Given the description of an element on the screen output the (x, y) to click on. 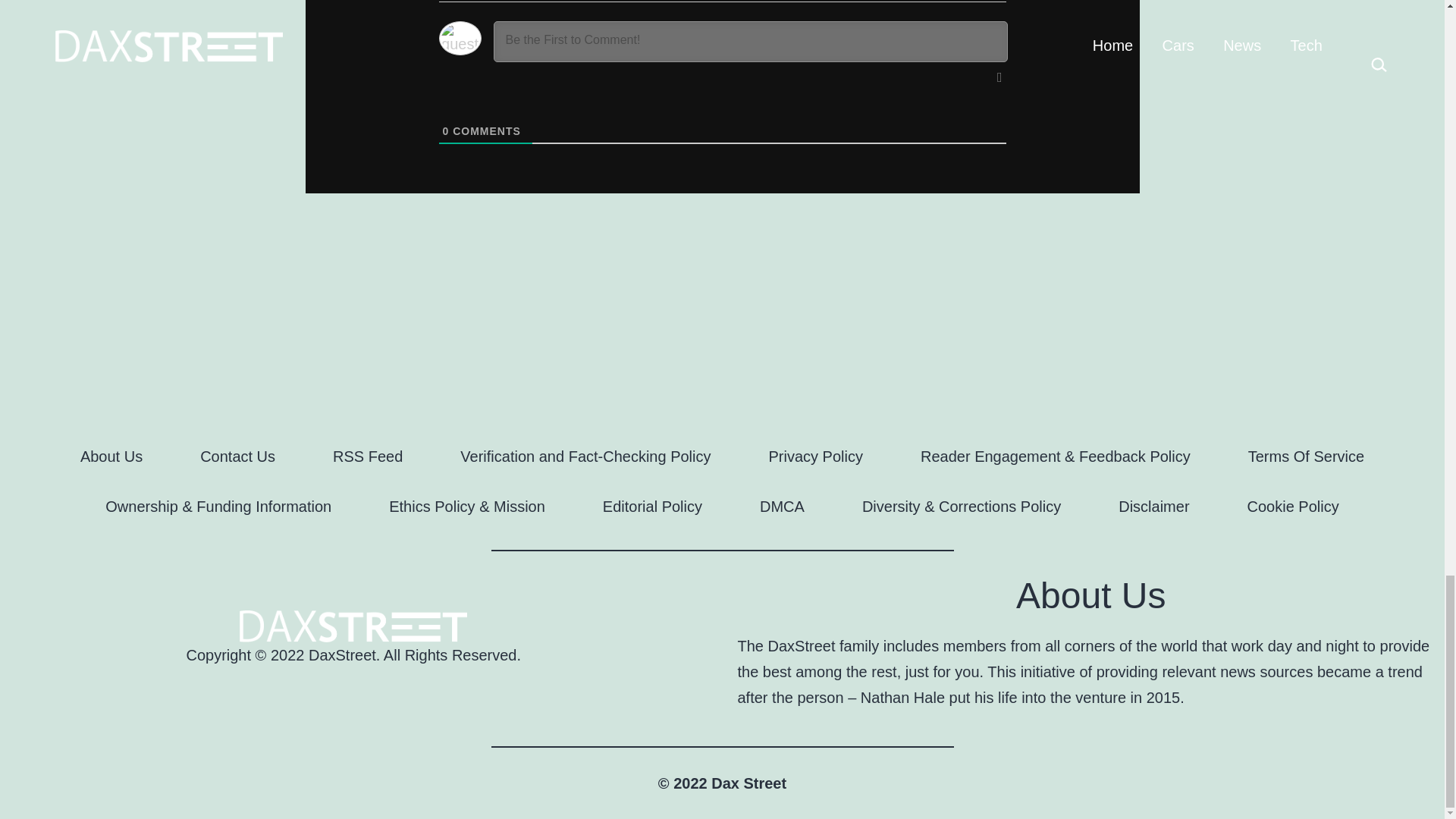
Privacy Policy (815, 455)
Terms Of Service (1305, 455)
Editorial Policy (652, 506)
About Us (111, 455)
Verification and Fact-Checking Policy (585, 455)
Disclaimer (1153, 506)
Contact Us (236, 455)
RSS Feed (367, 455)
Cookie Policy (1292, 506)
DMCA (781, 506)
